Given the description of an element on the screen output the (x, y) to click on. 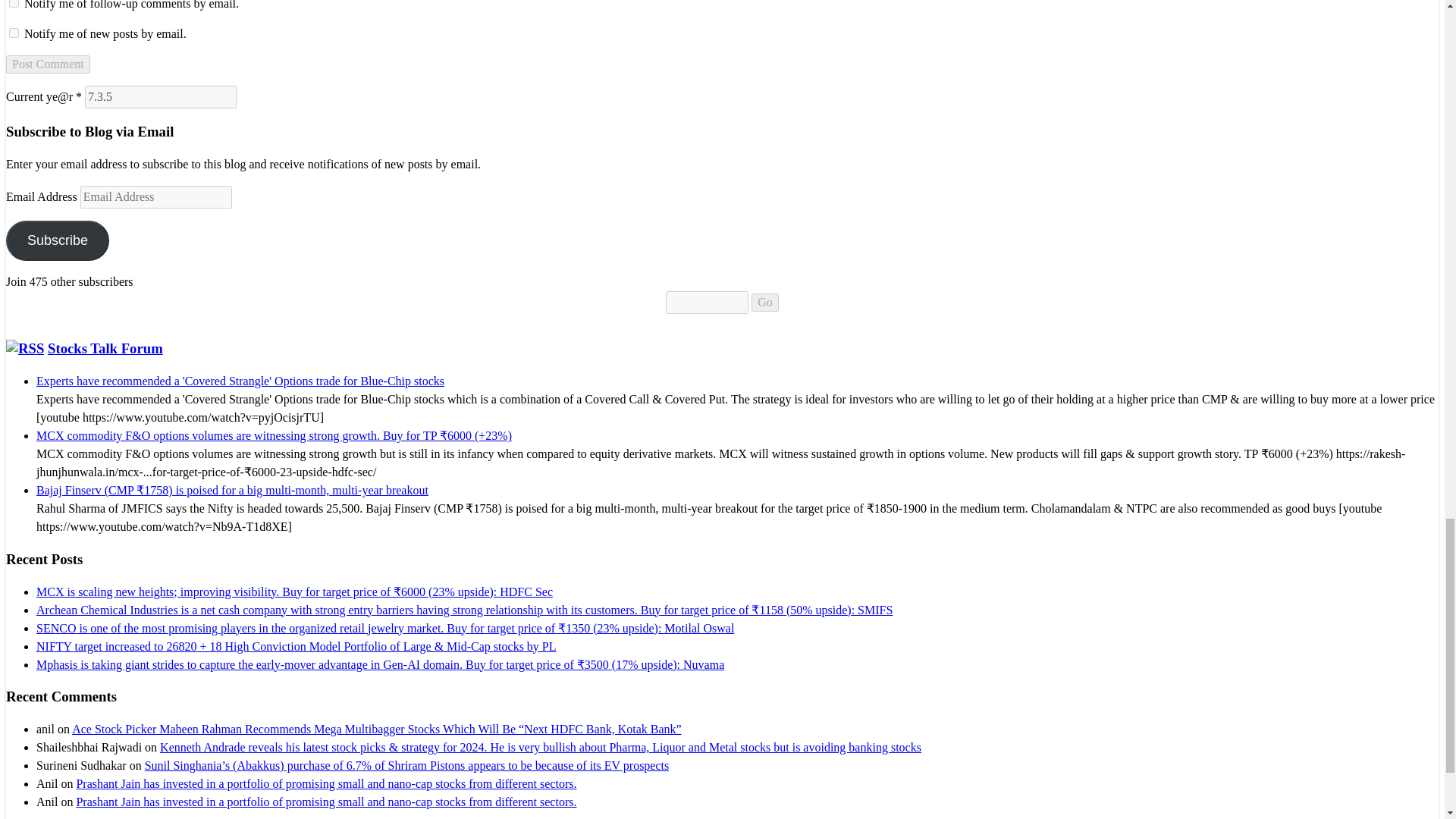
subscribe (13, 3)
Go (764, 302)
subscribe (13, 32)
7.3.5 (159, 96)
Post Comment (47, 64)
